Given the description of an element on the screen output the (x, y) to click on. 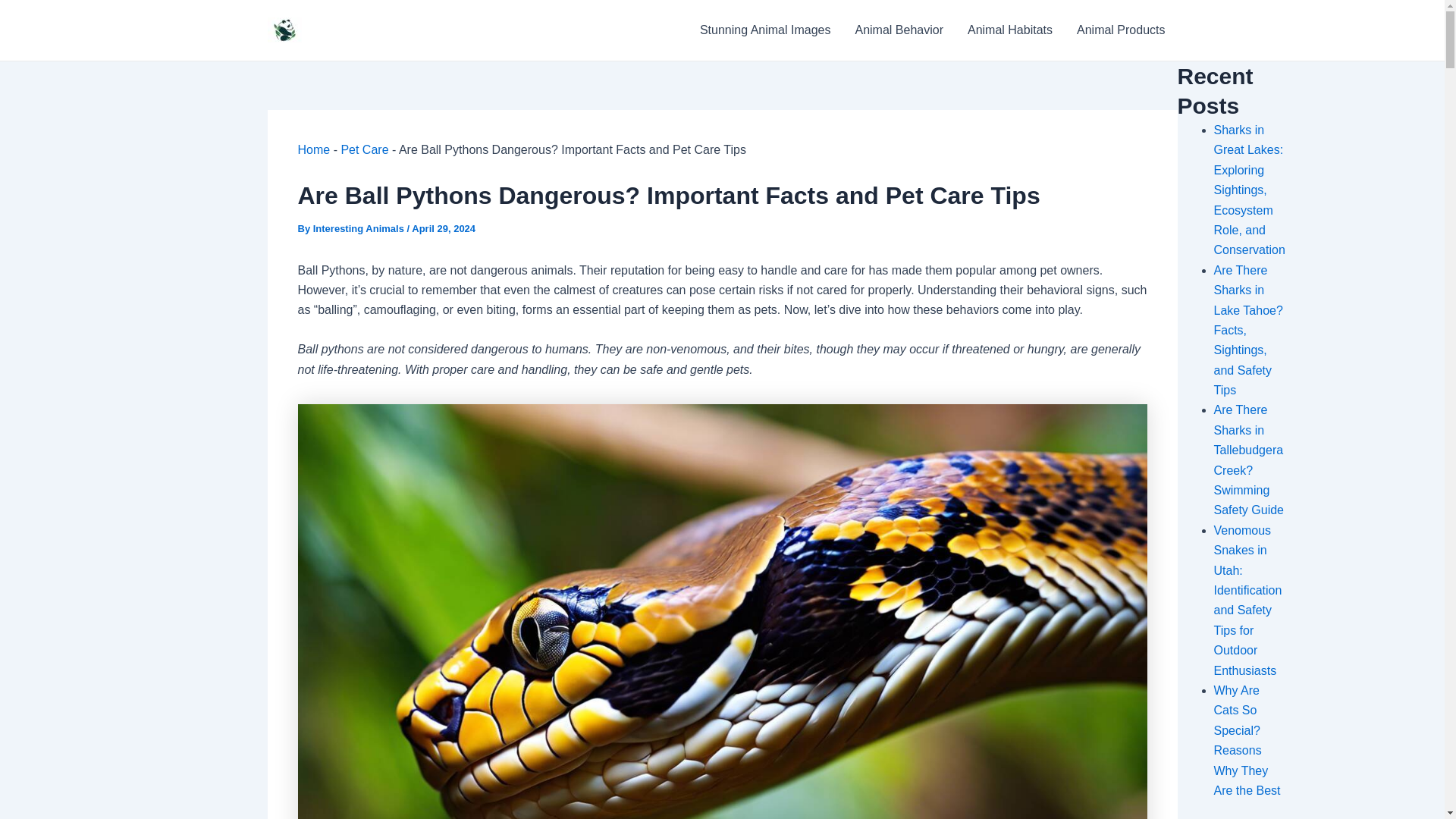
Animal Products (1120, 30)
Animal Behavior (899, 30)
Interesting Animals (360, 228)
Stunning Animal Images (765, 30)
View all posts by Interesting Animals (360, 228)
Animal Habitats (1009, 30)
Home (313, 149)
Pet Care (364, 149)
